Given the description of an element on the screen output the (x, y) to click on. 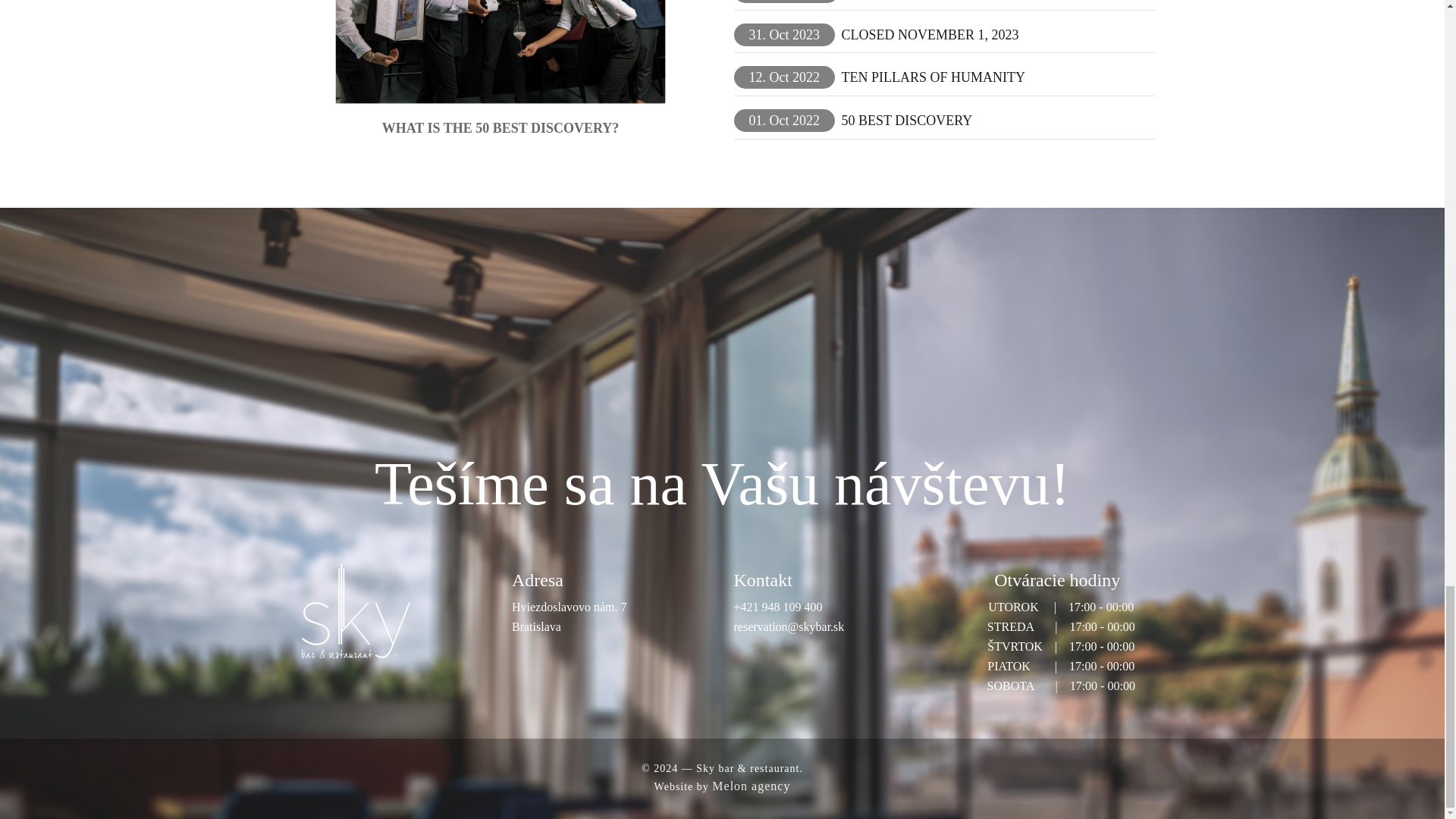
WHAT IS THE 50 BEST DISCOVERY? (500, 126)
12. Oct 2022 (784, 77)
50 BEST DISCOVERY (906, 119)
01. Oct 2022 (784, 119)
CLOSED NOVEMBER 1, 2023 (929, 34)
TEN PILLARS OF HUMANITY (933, 77)
31. Oct 2023 (784, 34)
NEW YEARS EVE (899, 1)
02. Nov 2023 (786, 1)
Melon agency (750, 785)
